Given the description of an element on the screen output the (x, y) to click on. 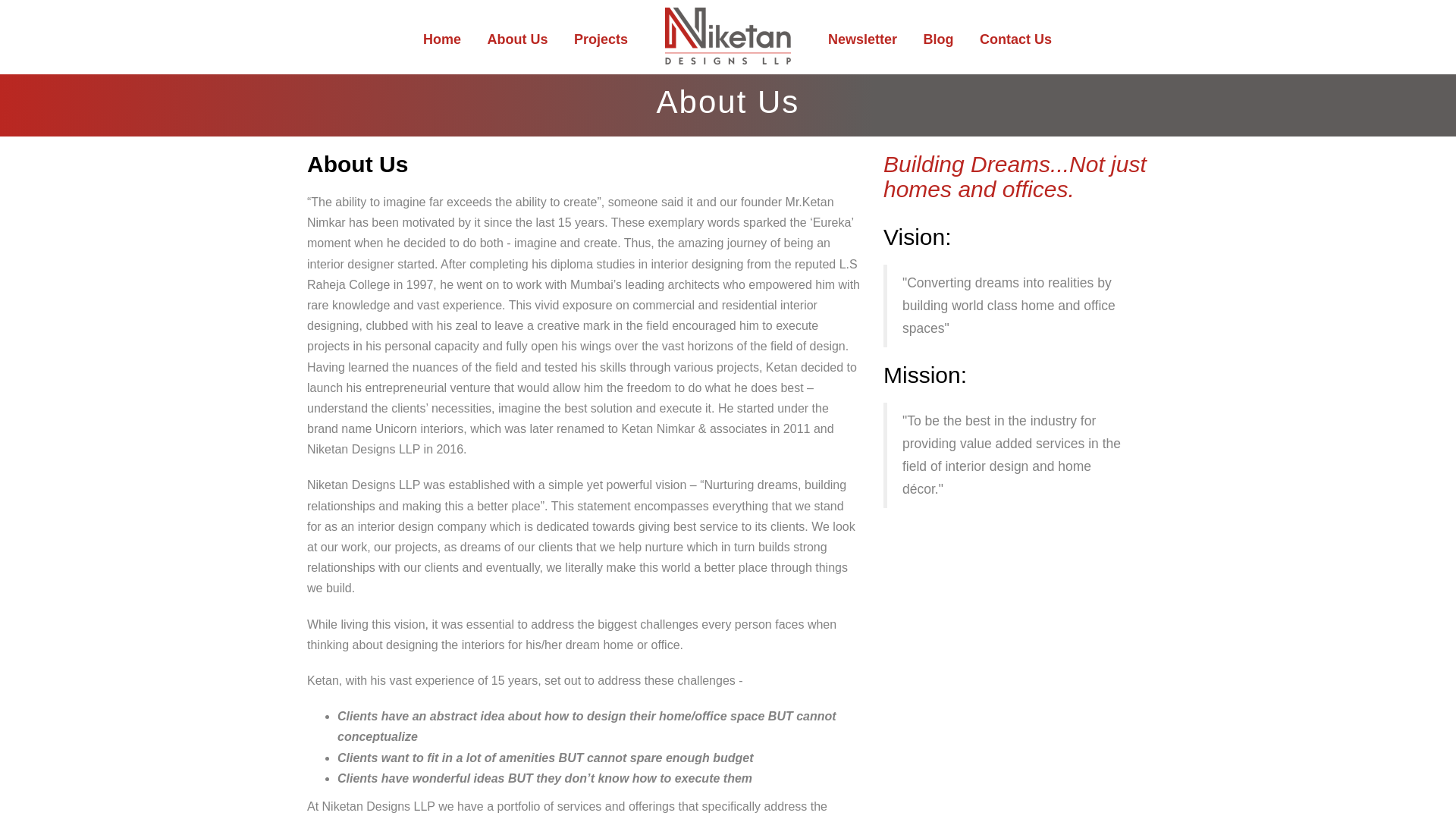
Projects (600, 39)
Contact Us (1015, 39)
Newsletter (862, 39)
Home (441, 39)
Niketan Designs LLP (727, 35)
About Us (517, 39)
